Given the description of an element on the screen output the (x, y) to click on. 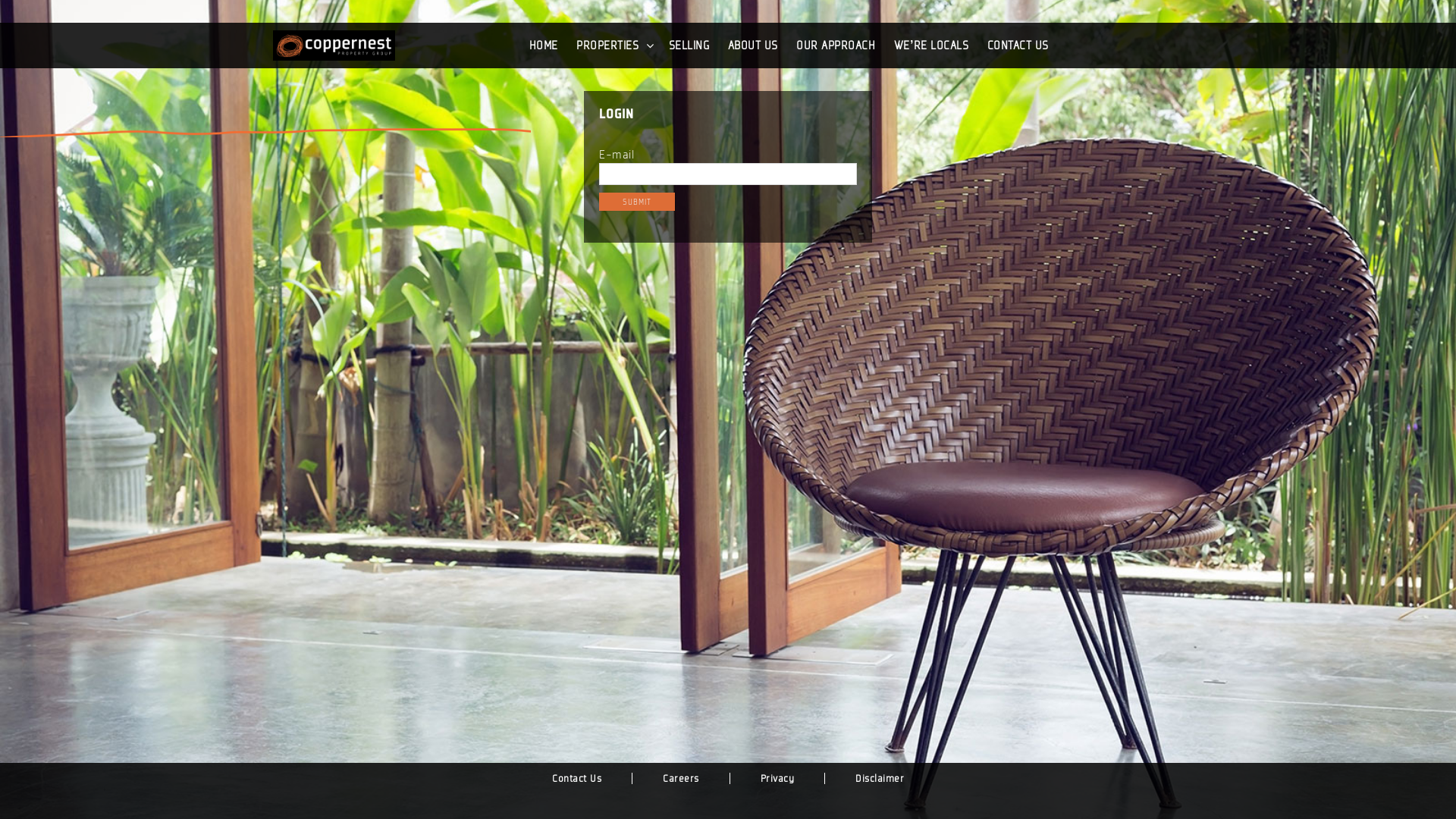
SELLING Element type: text (689, 45)
PROPERTIES Element type: text (607, 45)
SUBMIT Element type: text (636, 201)
Contact Us Element type: text (576, 778)
HOME Element type: text (543, 45)
Disclaimer Element type: text (879, 778)
ABOUT US Element type: text (752, 45)
CONTACT US Element type: text (1017, 45)
OUR APPROACH Element type: text (835, 45)
Careers Element type: text (681, 778)
Privacy Element type: text (777, 778)
